Given the description of an element on the screen output the (x, y) to click on. 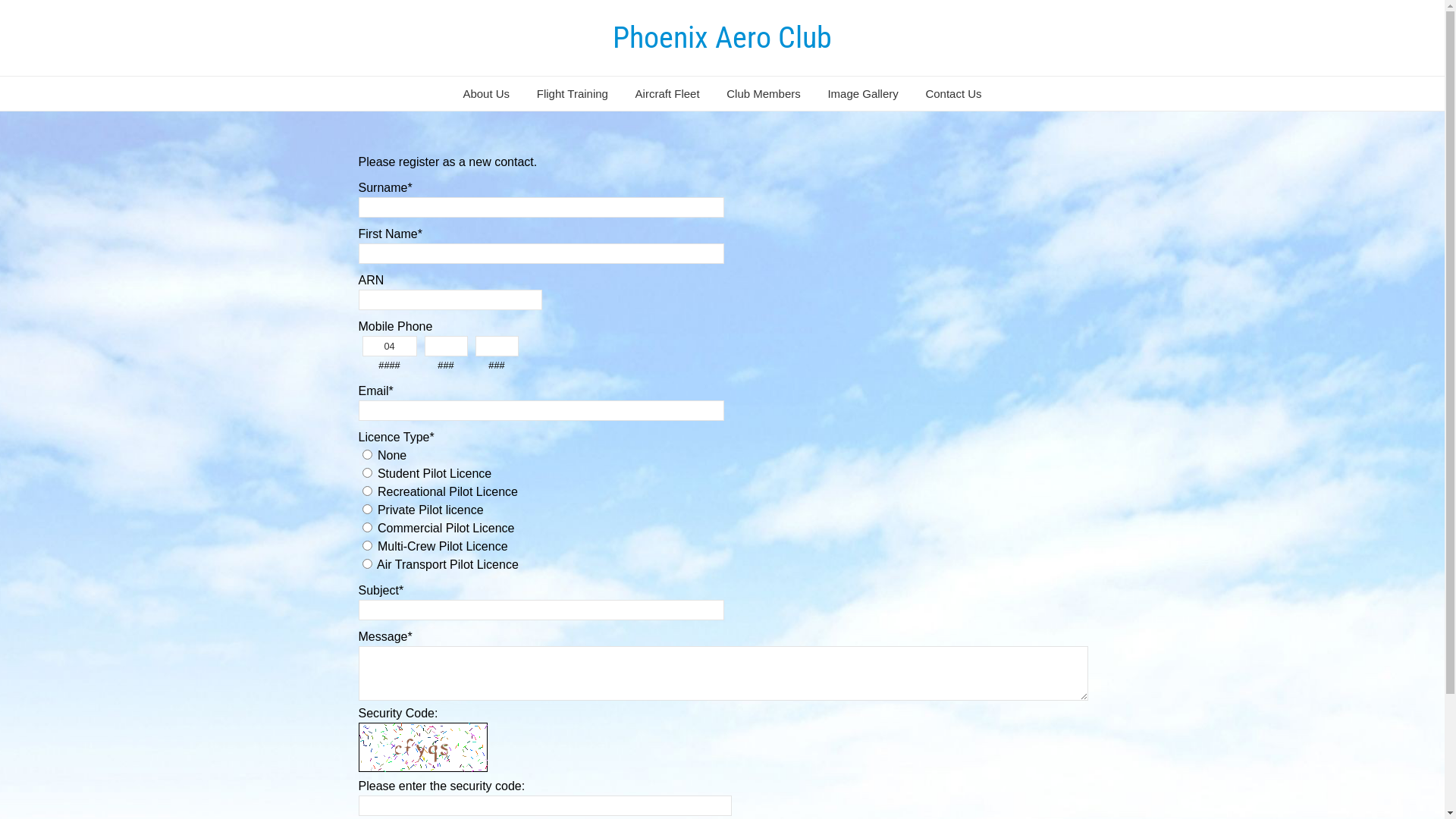
Image Gallery Element type: text (862, 93)
Contact Us Element type: text (953, 93)
Flight Training Element type: text (572, 93)
Club Members Element type: text (763, 93)
About Us Element type: text (485, 93)
Aircraft Fleet Element type: text (667, 93)
Phoenix Aero Club Element type: text (721, 37)
